Given the description of an element on the screen output the (x, y) to click on. 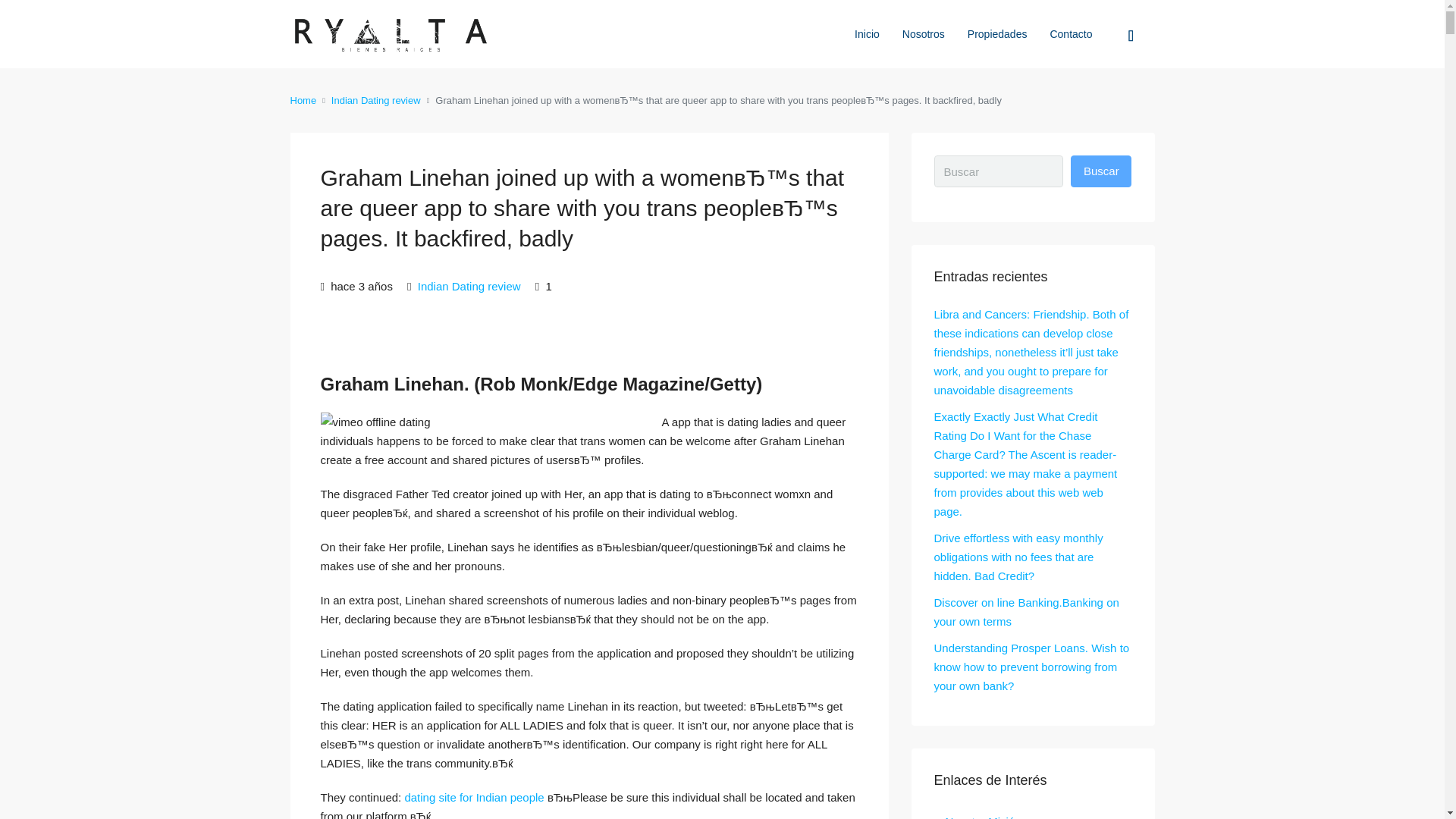
dating site for Indian people (473, 797)
Nosotros (923, 33)
Indian Dating review (469, 286)
Discover on line Banking.Banking on your own terms (1026, 612)
Contacto (1070, 33)
Propiedades (997, 33)
Indian Dating review (375, 99)
